Given the description of an element on the screen output the (x, y) to click on. 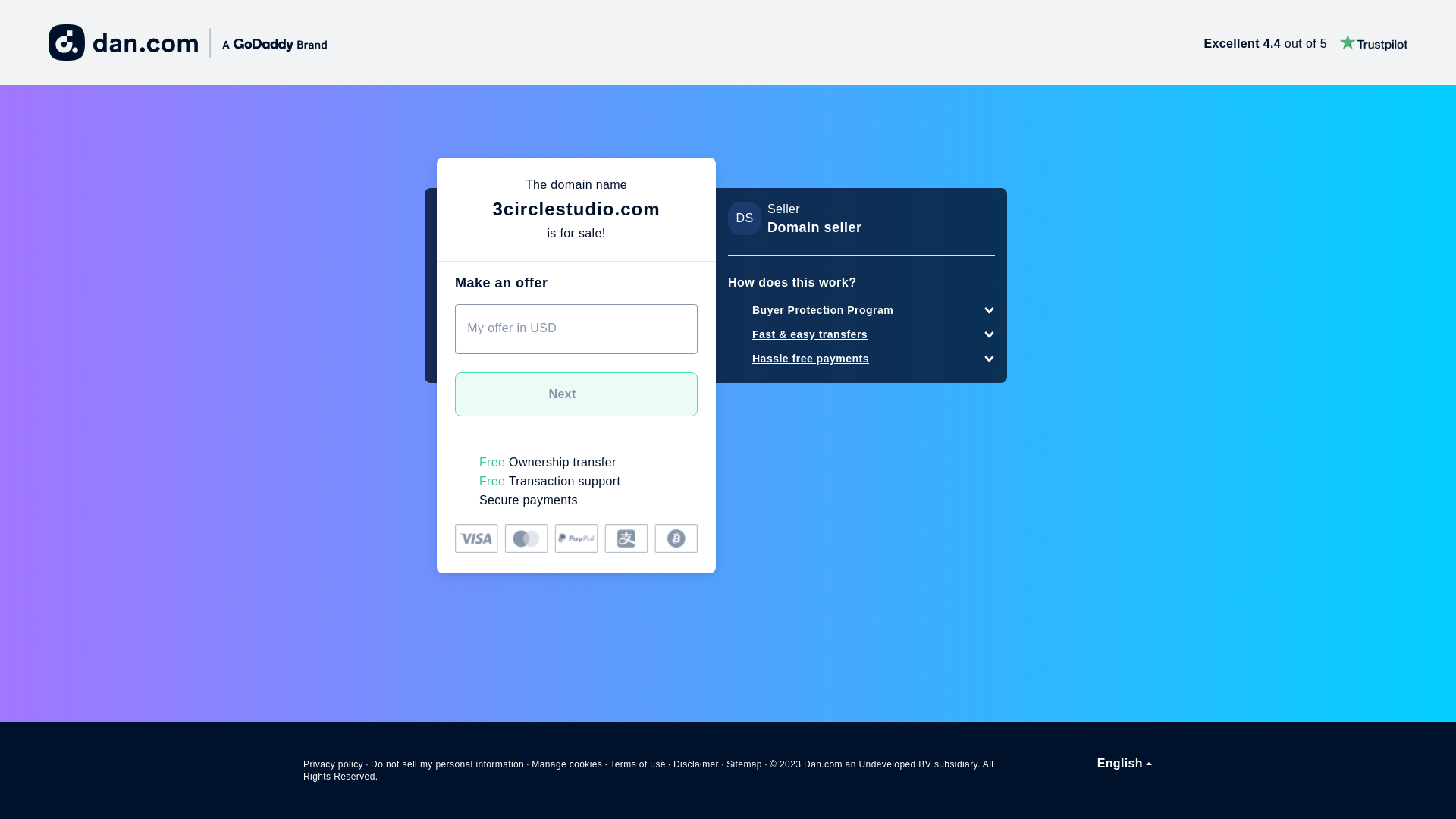
Manage cookies Element type: text (566, 764)
Excellent 4.4 out of 5 Element type: text (1305, 42)
Disclaimer Element type: text (695, 764)
Sitemap Element type: text (744, 764)
Next
) Element type: text (576, 394)
English Element type: text (1124, 763)
Privacy policy Element type: text (333, 764)
Terms of use Element type: text (637, 764)
Do not sell my personal information Element type: text (447, 764)
